Given the description of an element on the screen output the (x, y) to click on. 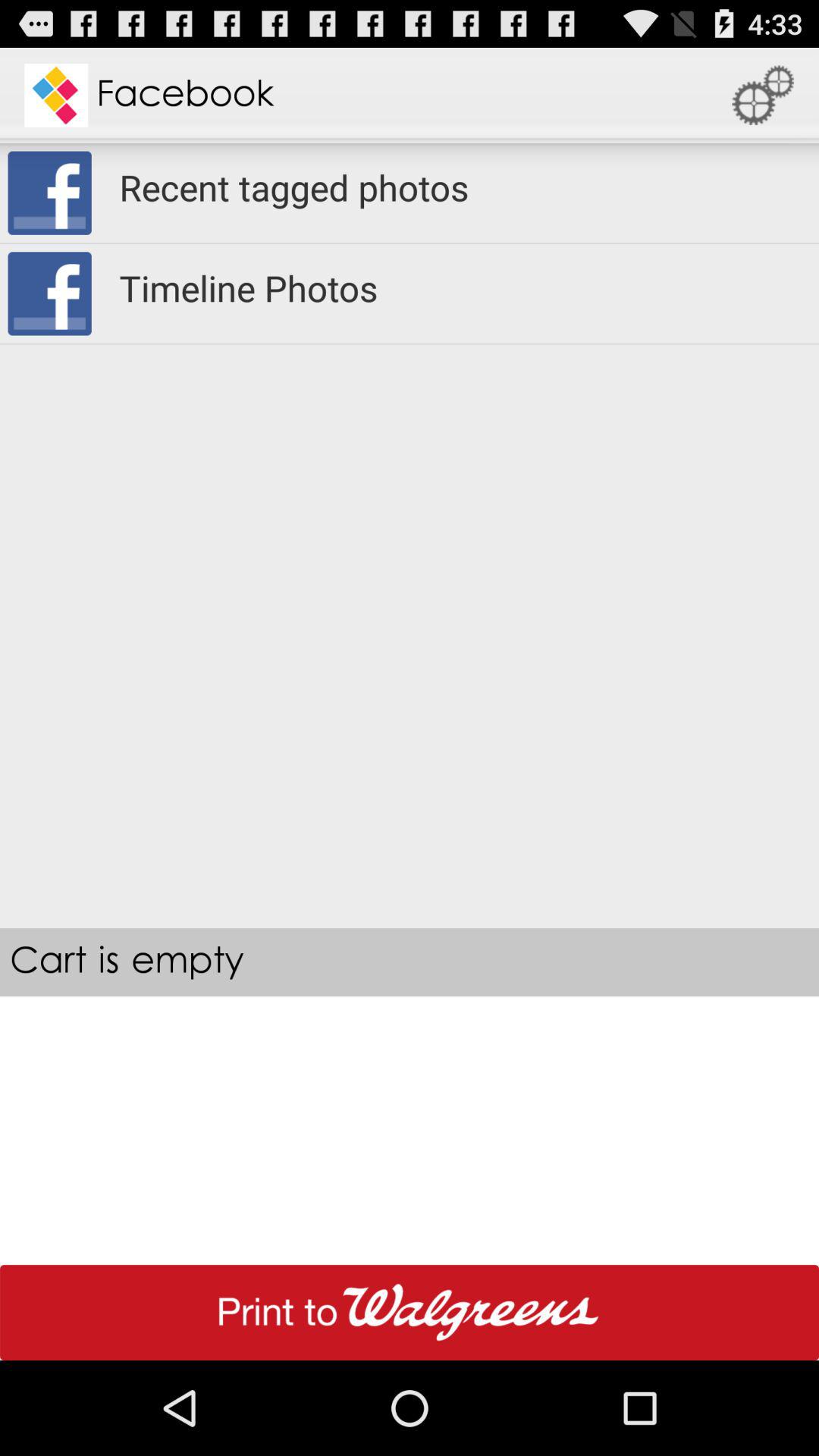
scroll until the recent tagged photos item (459, 187)
